Given the description of an element on the screen output the (x, y) to click on. 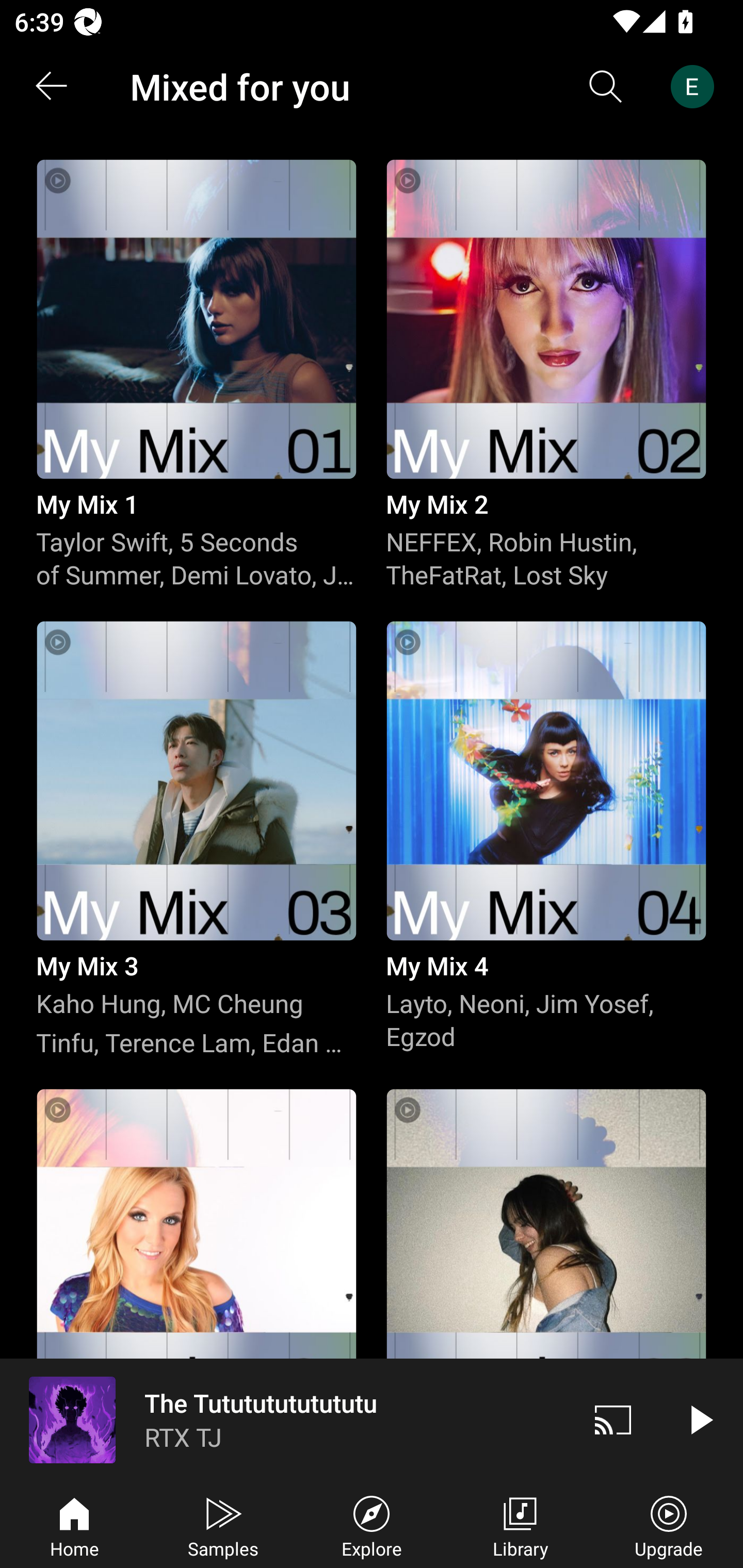
Back (50, 86)
Search (605, 86)
Account (696, 86)
The Tutututututututu RTX TJ (284, 1419)
Cast. Disconnected (612, 1419)
Play video (699, 1419)
Home (74, 1524)
Samples (222, 1524)
Explore (371, 1524)
Library (519, 1524)
Upgrade (668, 1524)
